Given the description of an element on the screen output the (x, y) to click on. 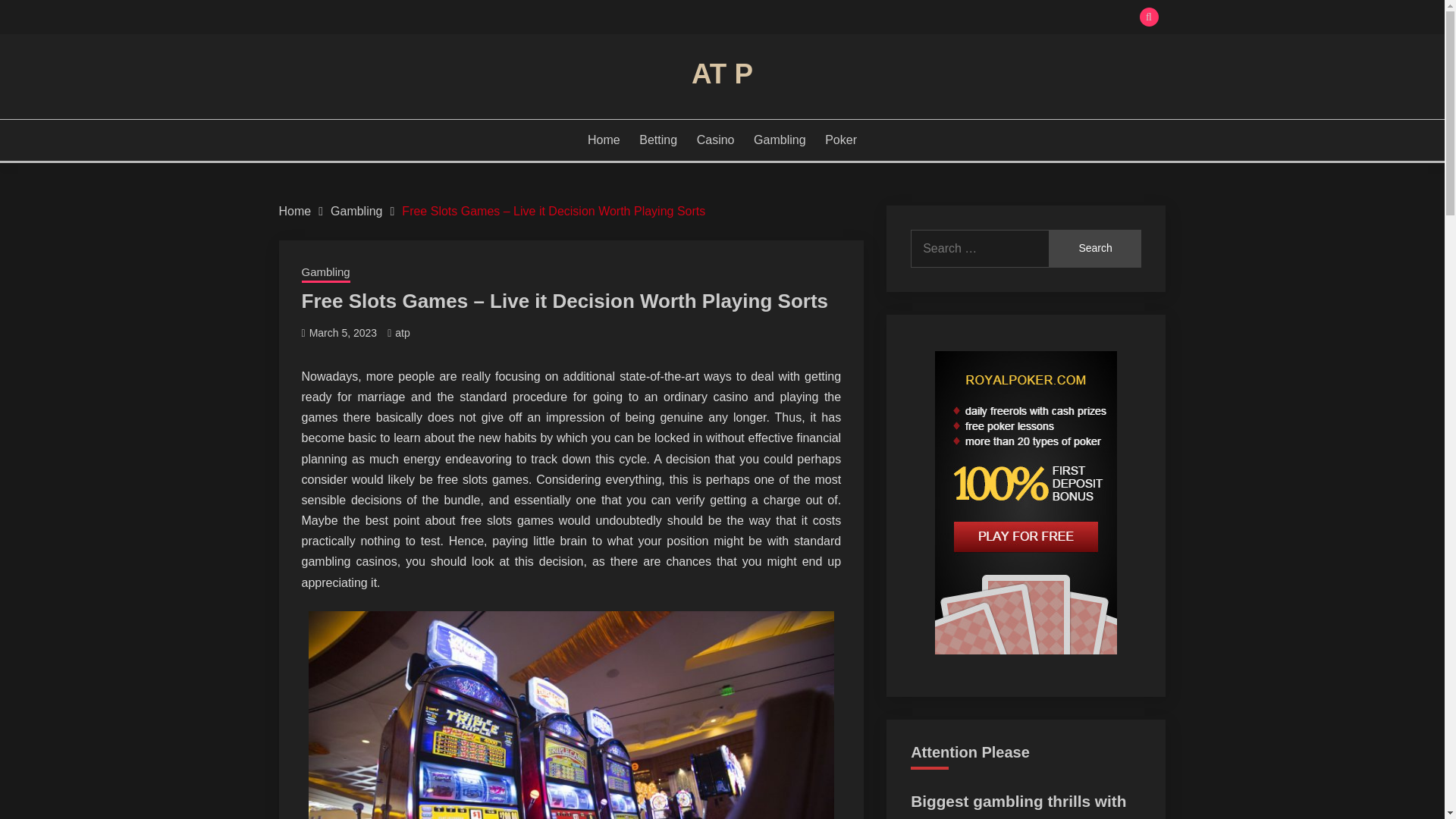
Poker (841, 140)
Search (1095, 248)
Home (295, 210)
March 5, 2023 (342, 332)
Search (1095, 248)
Gambling (355, 210)
Search (1095, 248)
Gambling (779, 140)
AT P (721, 73)
Poker Online (959, 817)
